Given the description of an element on the screen output the (x, y) to click on. 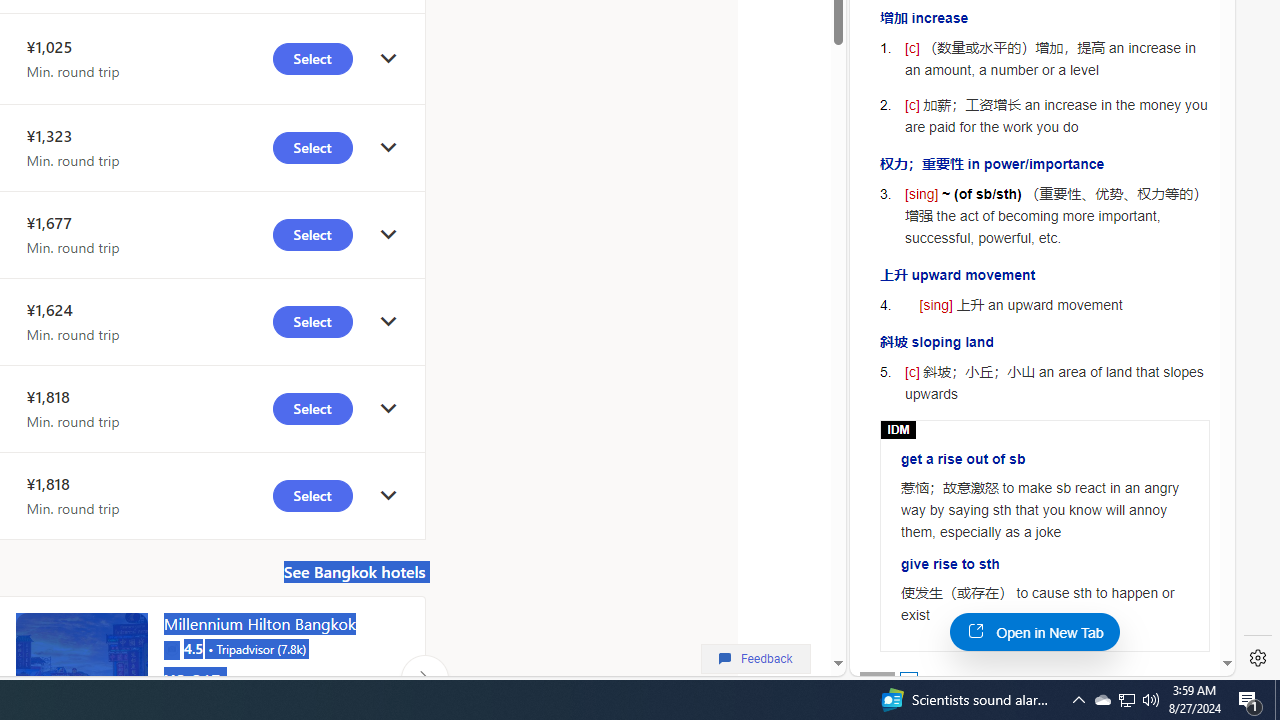
click to get details (388, 494)
AutomationID: posbtn_1 (908, 680)
Tripadvisor (171, 648)
